Given the description of an element on the screen output the (x, y) to click on. 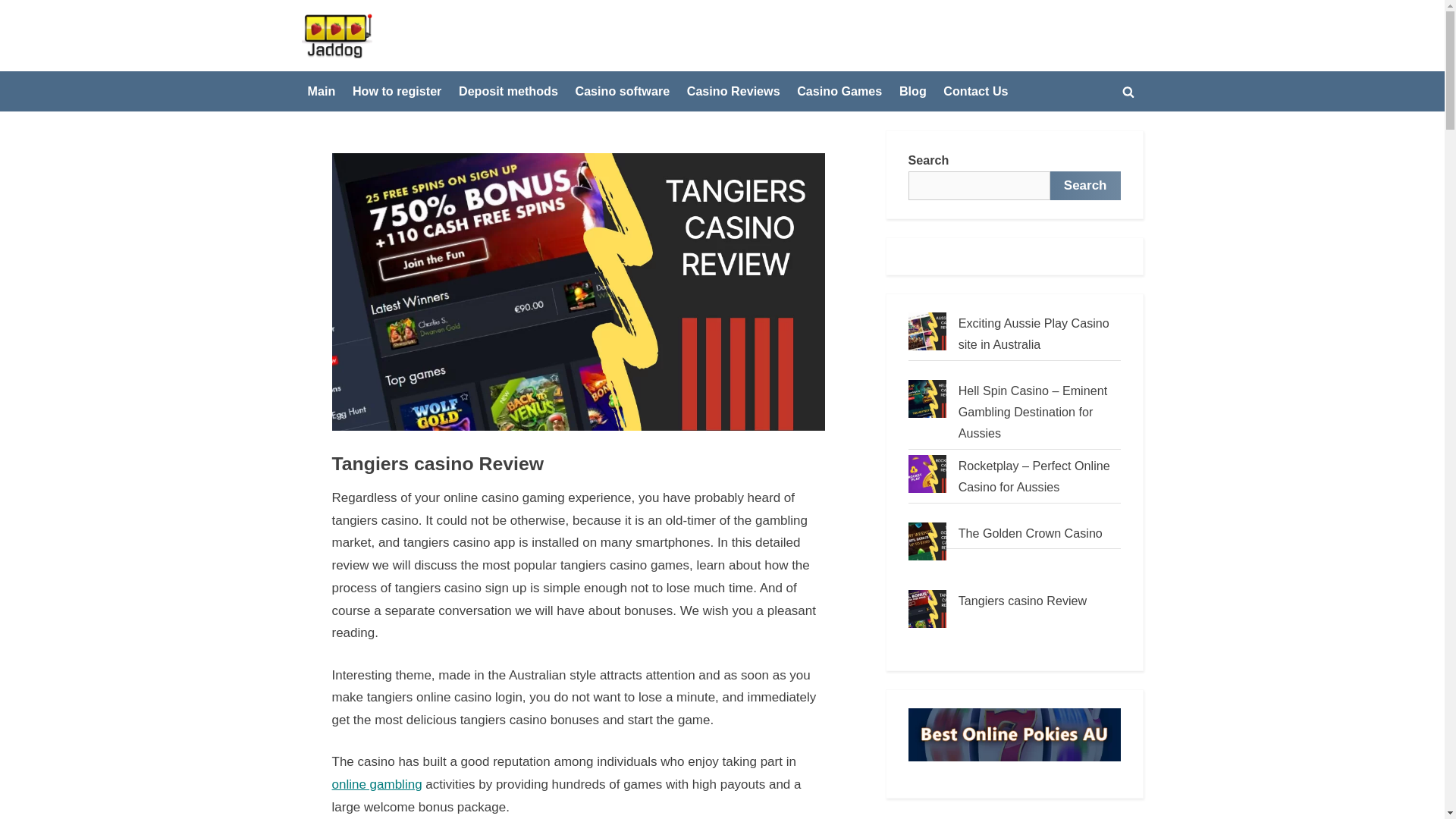
Search (1085, 185)
Main (321, 91)
Casino Games (839, 91)
Toggle search form (1128, 91)
Exciting Aussie Play Casino site in Australia (1033, 333)
Deposit methods (508, 91)
Contact Us (975, 91)
Jaddog (400, 46)
Tangiers casino Review (1022, 600)
online gambling (376, 784)
